Given the description of an element on the screen output the (x, y) to click on. 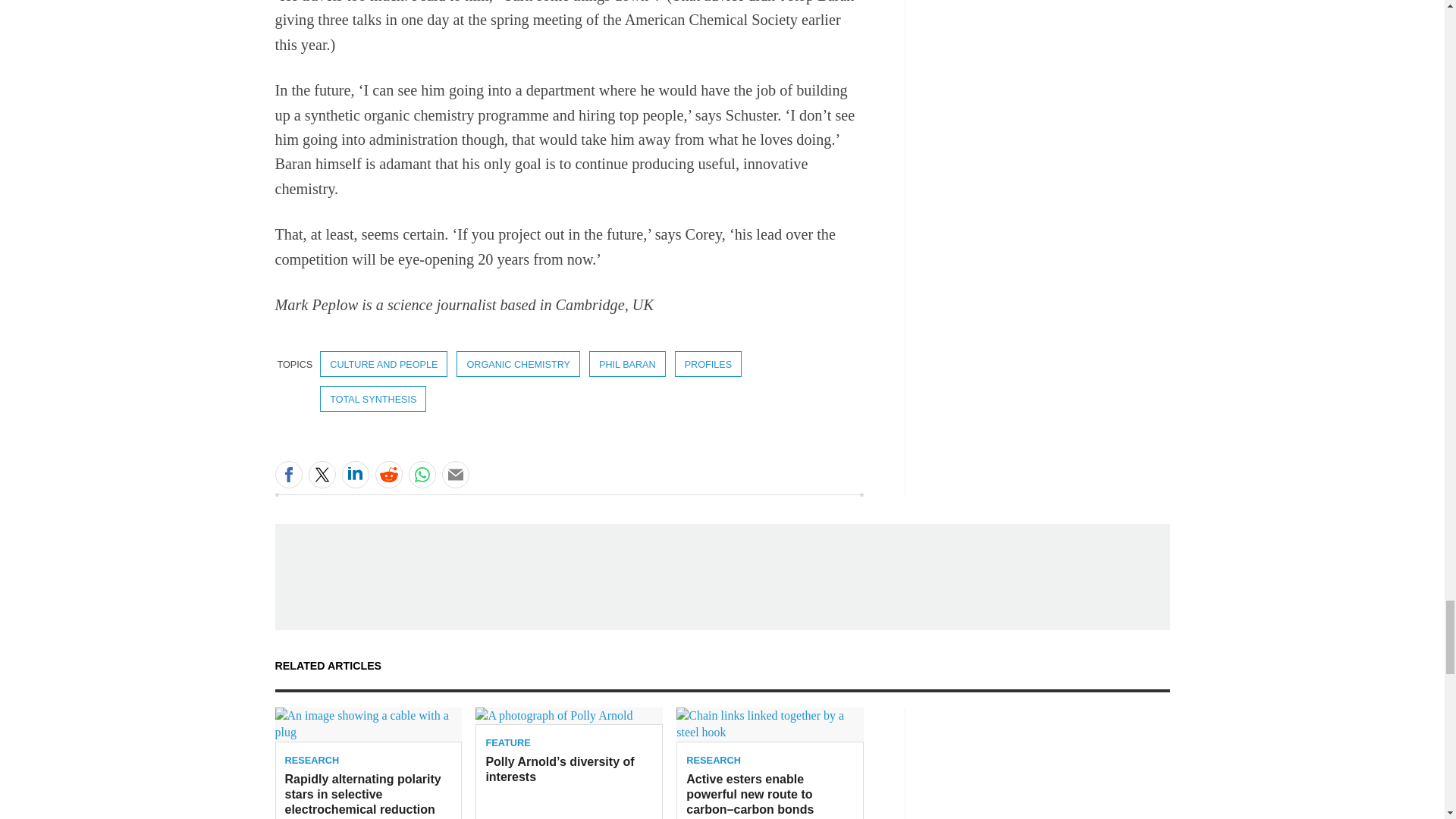
Share this on WhatsApp (421, 474)
Share this on LinkedIn (354, 474)
Share this by email (454, 474)
Share this on Reddit (387, 474)
Share this on Facebook (288, 474)
